Given the description of an element on the screen output the (x, y) to click on. 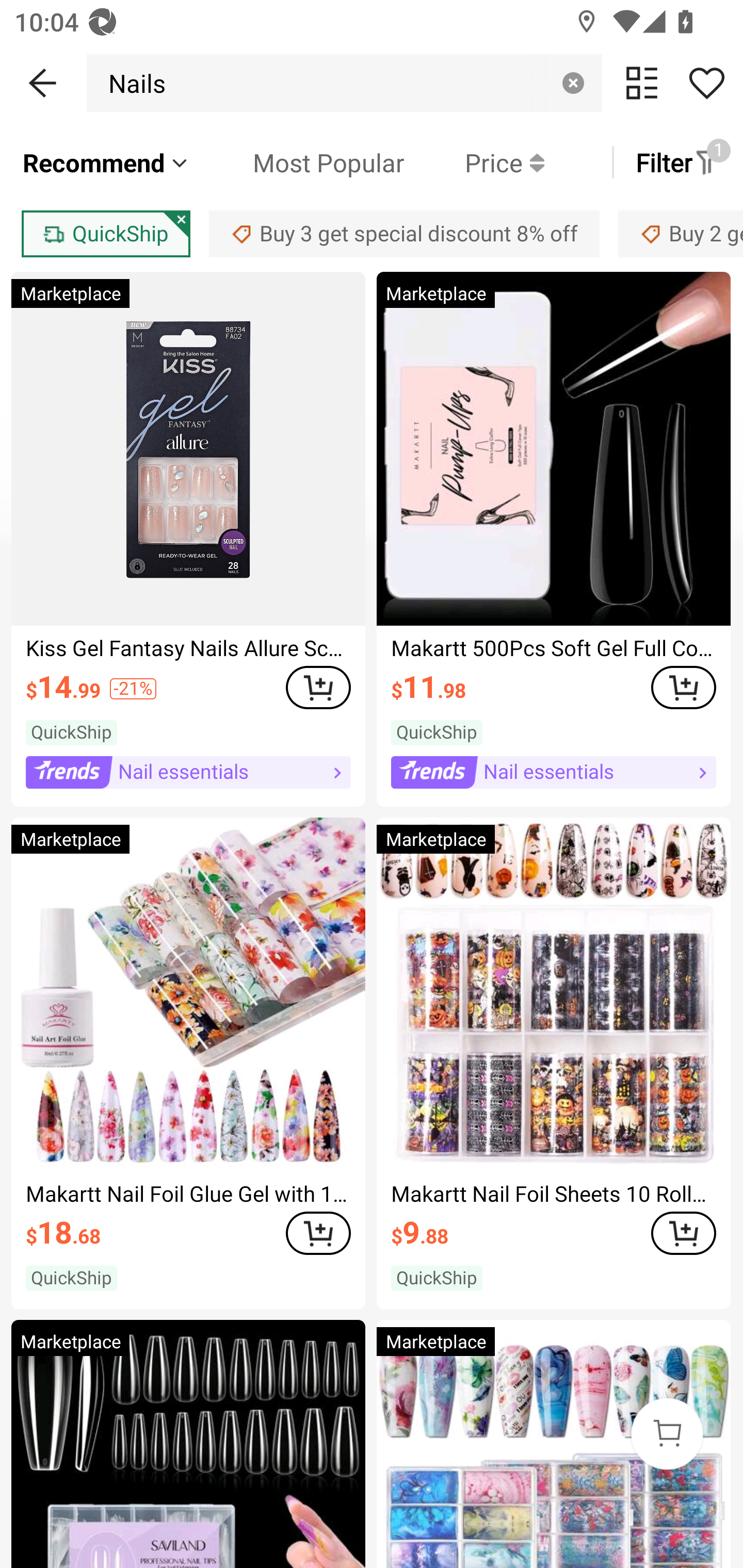
Nails Clear (343, 82)
Nails (131, 82)
Clear (572, 82)
change view (641, 82)
Share (706, 82)
Recommend (106, 162)
Most Popular (297, 162)
Price (474, 162)
Filter 1 (677, 162)
QuickShip (105, 233)
Buy 3 get special discount 8% off (403, 233)
Buy 2 get special discount 30% off (680, 233)
ADD TO CART (318, 687)
ADD TO CART (683, 687)
Nail essentials (188, 771)
Nail essentials (553, 771)
ADD TO CART (318, 1233)
ADD TO CART (683, 1233)
